Given the description of an element on the screen output the (x, y) to click on. 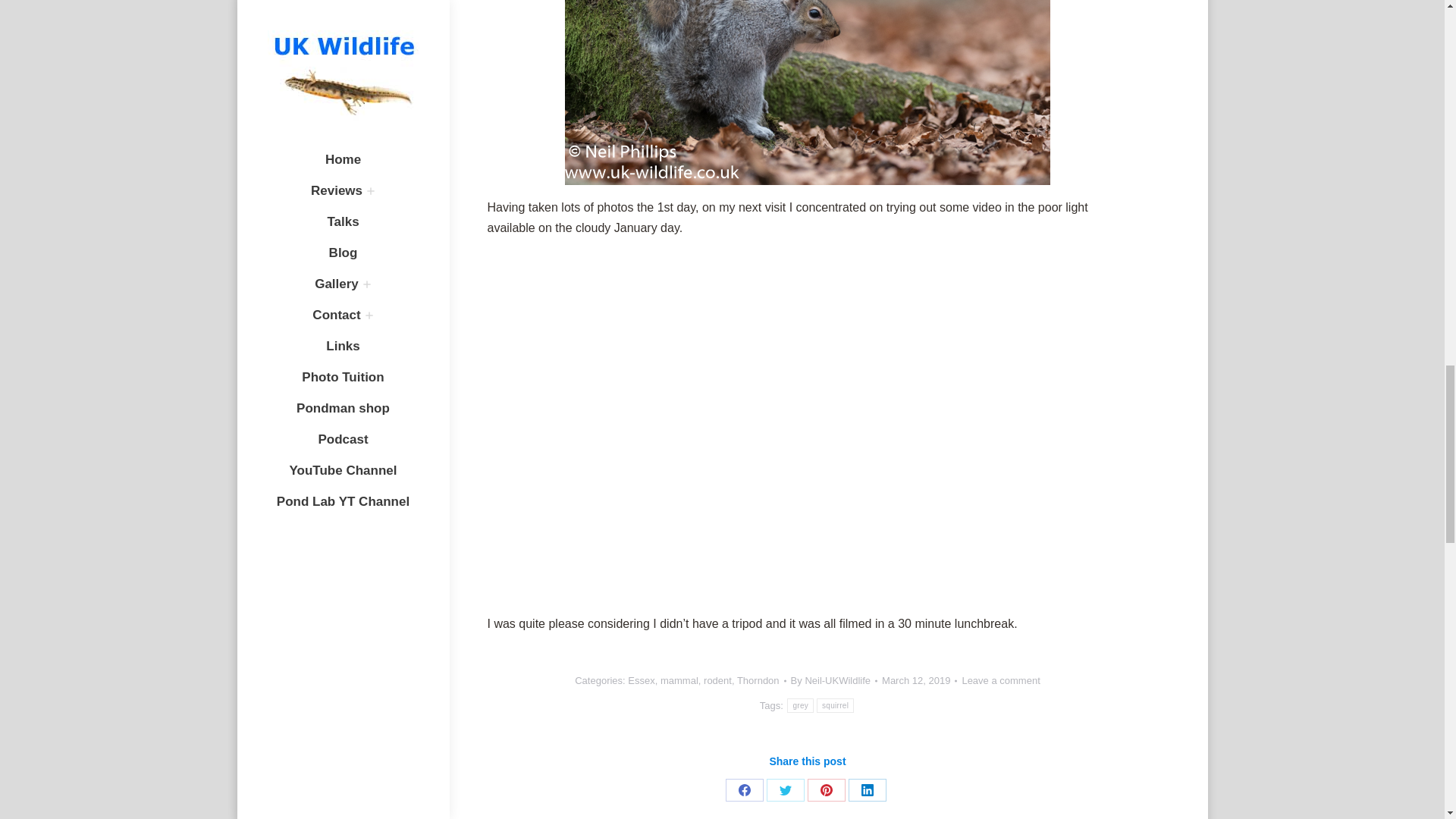
Pinterest (826, 789)
View all posts by Neil-UKWildlife (833, 680)
9:52 pm (919, 680)
Twitter (786, 789)
Facebook (743, 789)
LinkedIn (867, 789)
